Given the description of an element on the screen output the (x, y) to click on. 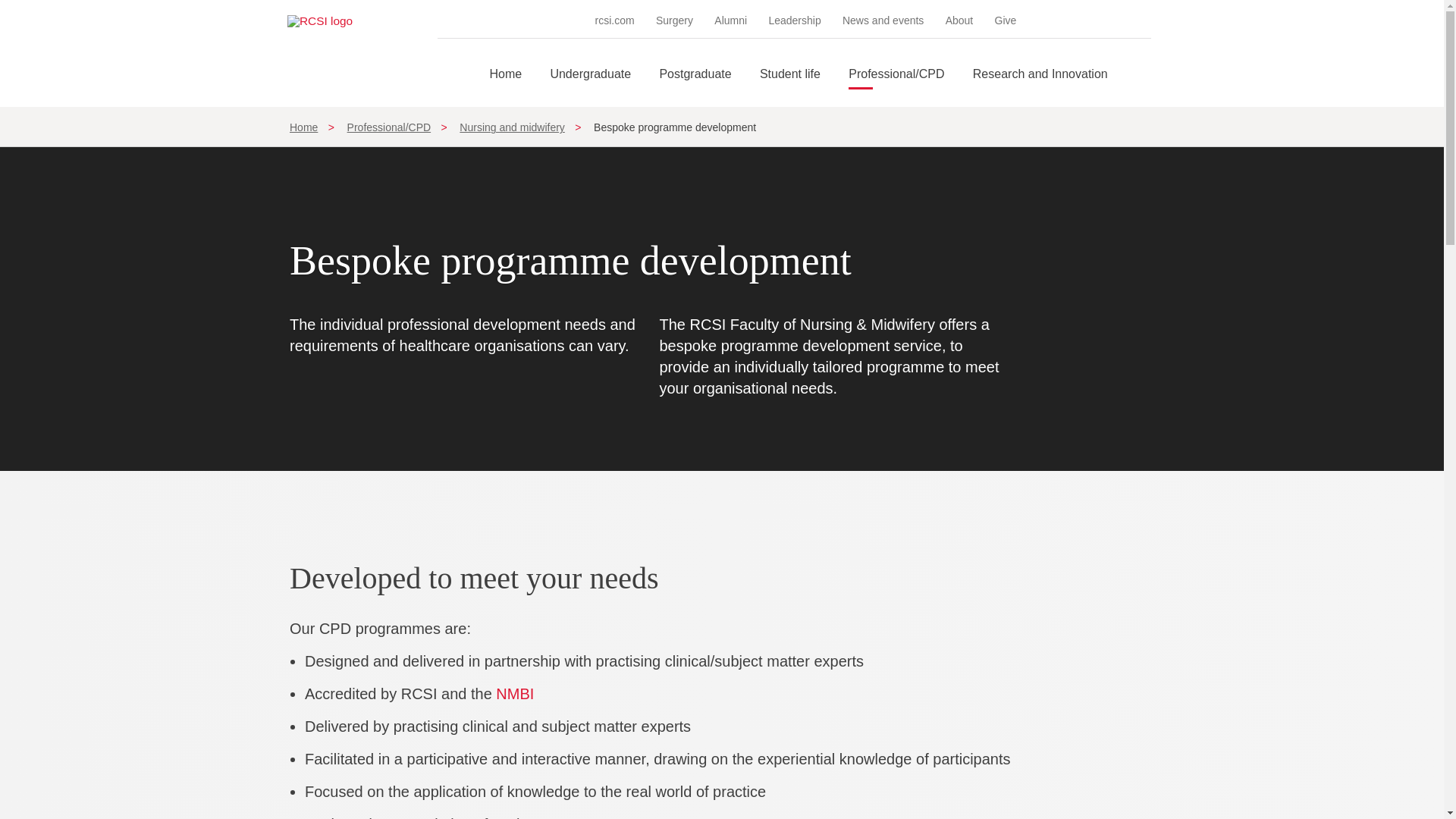
Leadership (794, 20)
Leadership (794, 20)
TikTok (1121, 19)
News and events (883, 20)
LinkedIn (1099, 19)
Instagram (1056, 19)
Student life (790, 87)
About (959, 20)
TikTok (1121, 19)
Postgraduate (694, 87)
rcsi.com (614, 20)
X (1078, 19)
Alumni (730, 20)
Alumni (730, 20)
Home (505, 87)
